Given the description of an element on the screen output the (x, y) to click on. 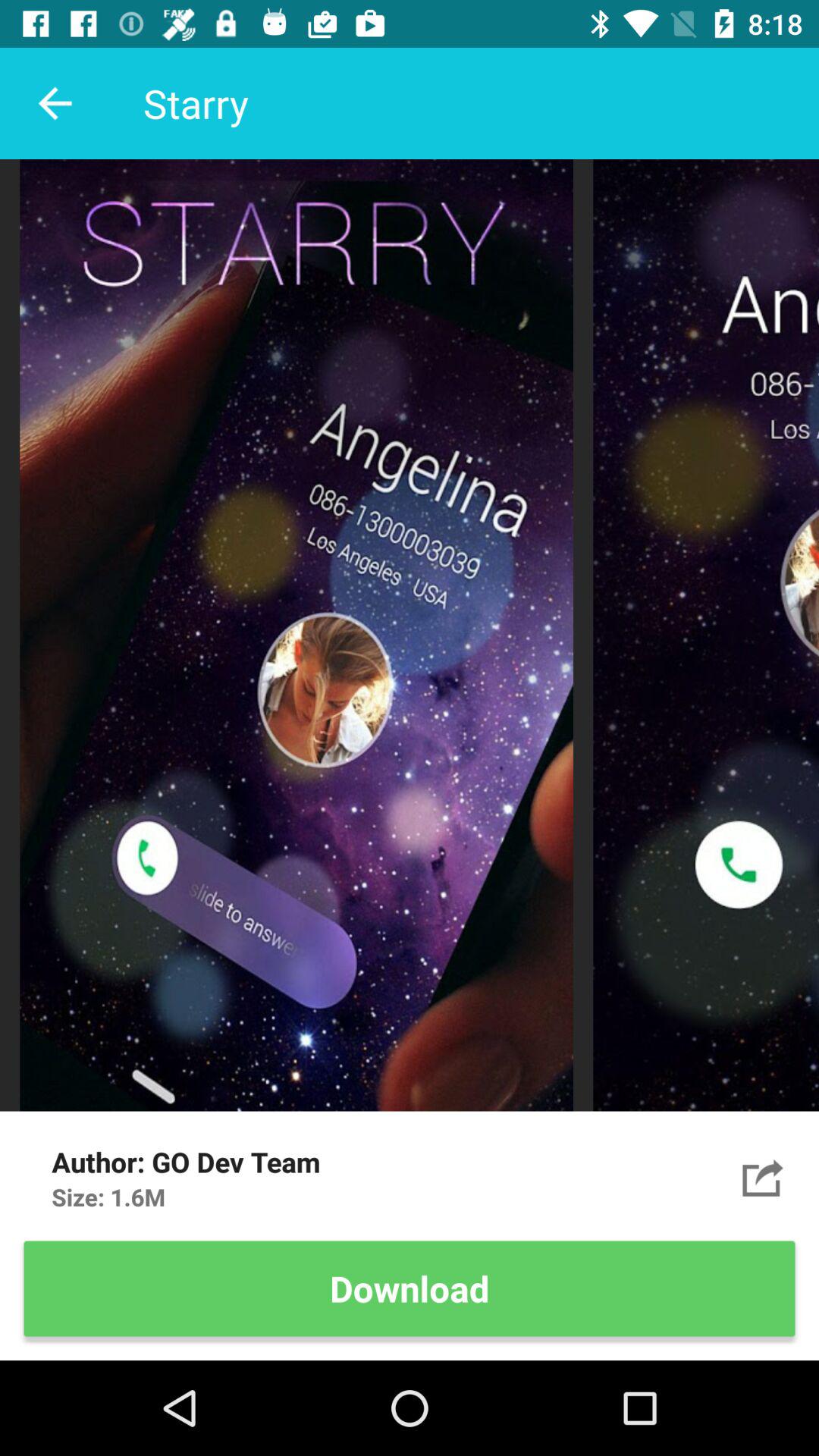
turn off the item at the bottom right corner (763, 1177)
